Given the description of an element on the screen output the (x, y) to click on. 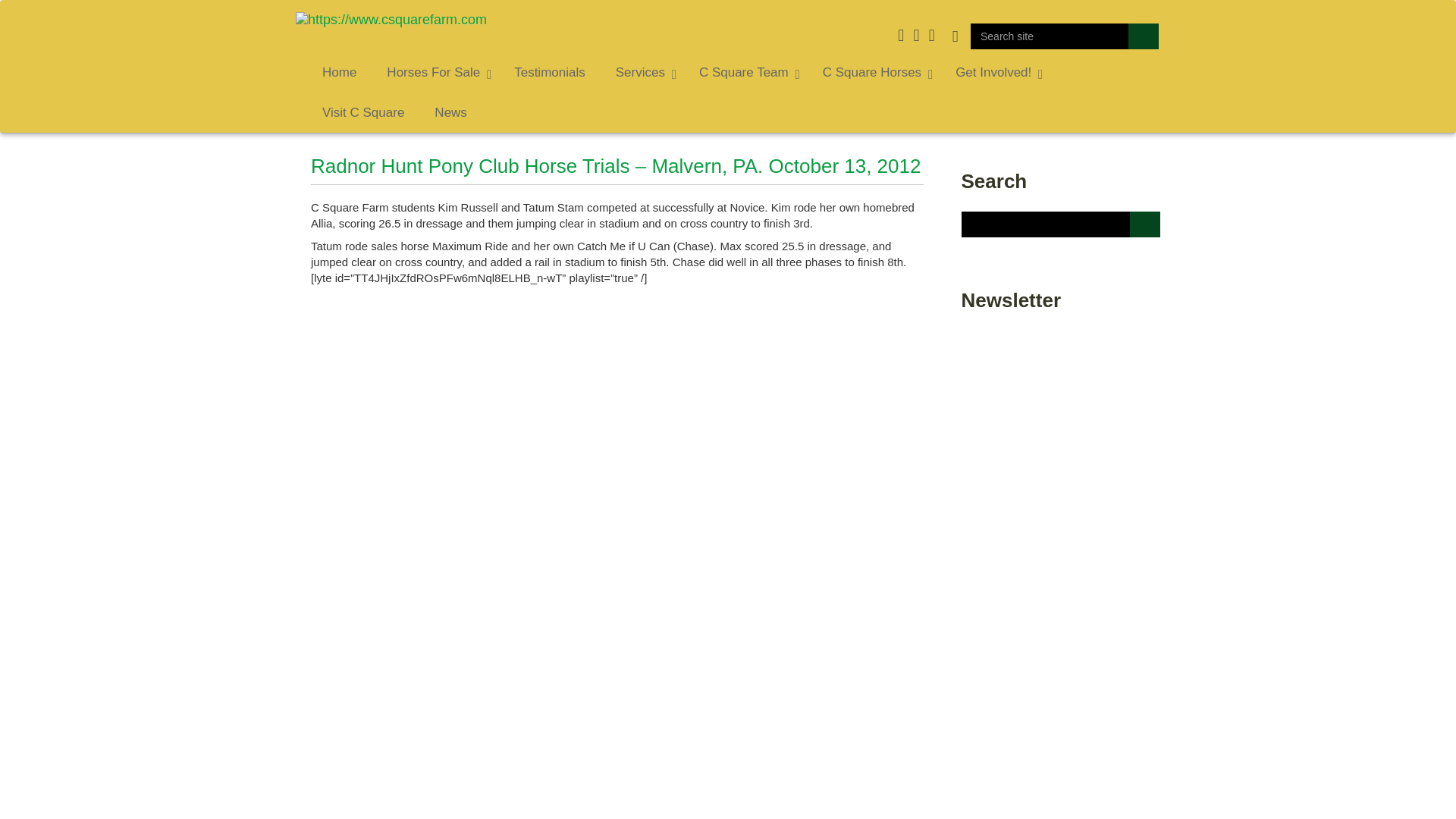
search (1143, 36)
Services (641, 73)
search (1143, 36)
C Square Team (746, 73)
Search (1144, 224)
Home (339, 73)
search (1143, 36)
Horses For Sale (435, 73)
News (450, 113)
C Square Horses (874, 73)
Testimonials (549, 73)
Get Involved! (994, 73)
Visit C Square (363, 113)
